Given the description of an element on the screen output the (x, y) to click on. 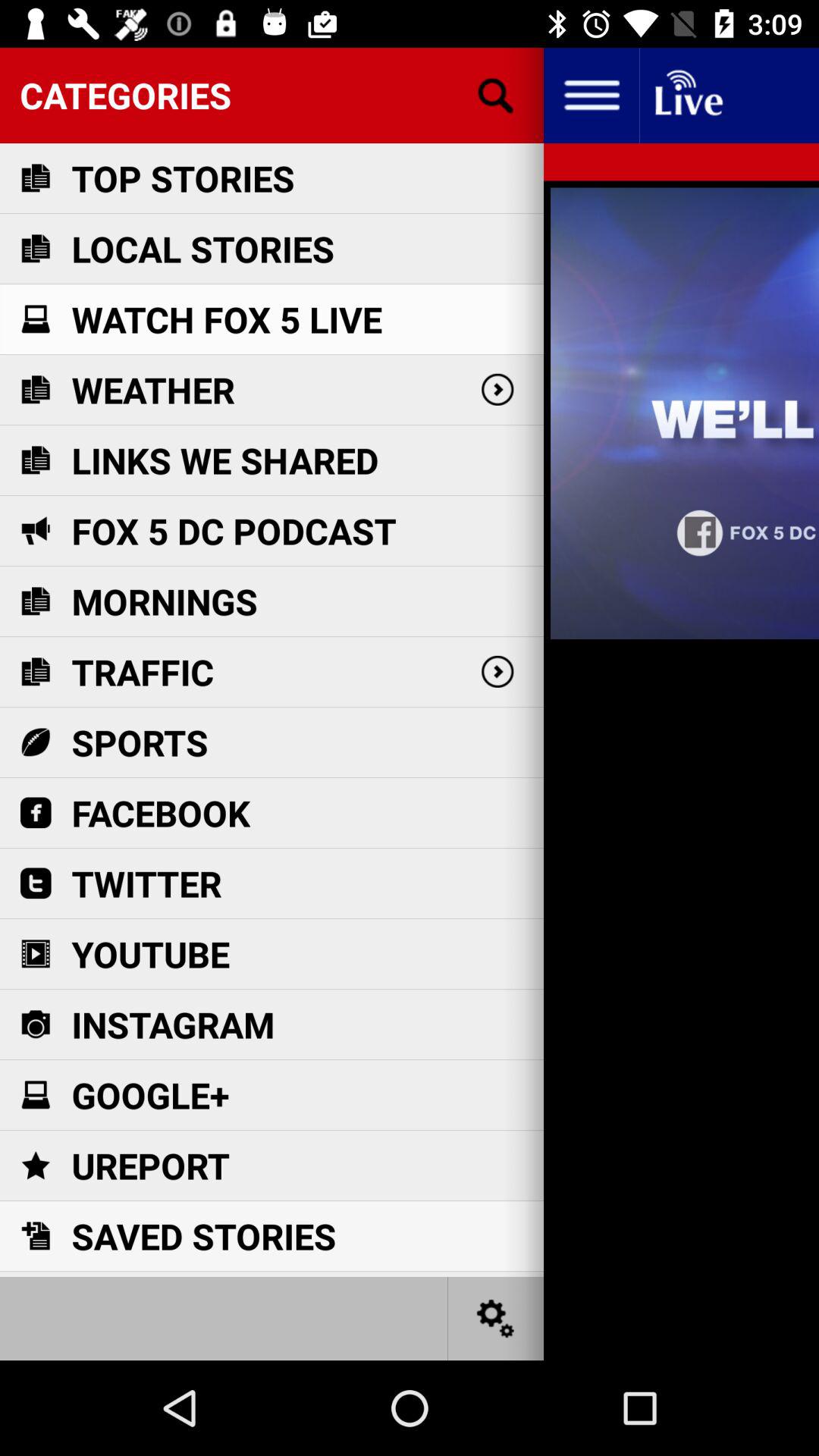
press for customize search (495, 95)
